Given the description of an element on the screen output the (x, y) to click on. 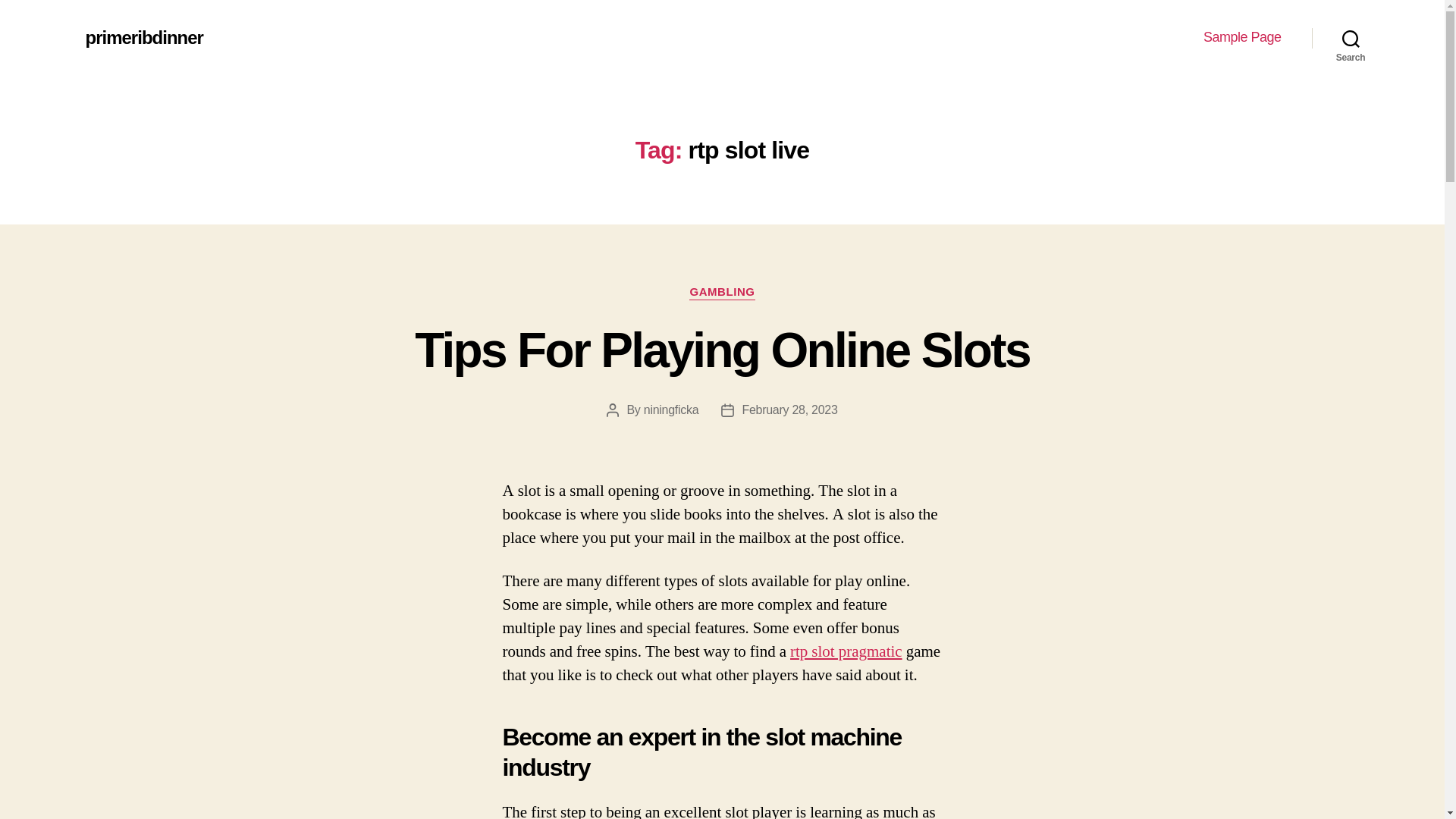
Search (1350, 37)
Tips For Playing Online Slots (721, 349)
GAMBLING (721, 292)
niningficka (670, 409)
rtp slot pragmatic (846, 651)
primeribdinner (143, 37)
Sample Page (1242, 37)
February 28, 2023 (789, 409)
